Given the description of an element on the screen output the (x, y) to click on. 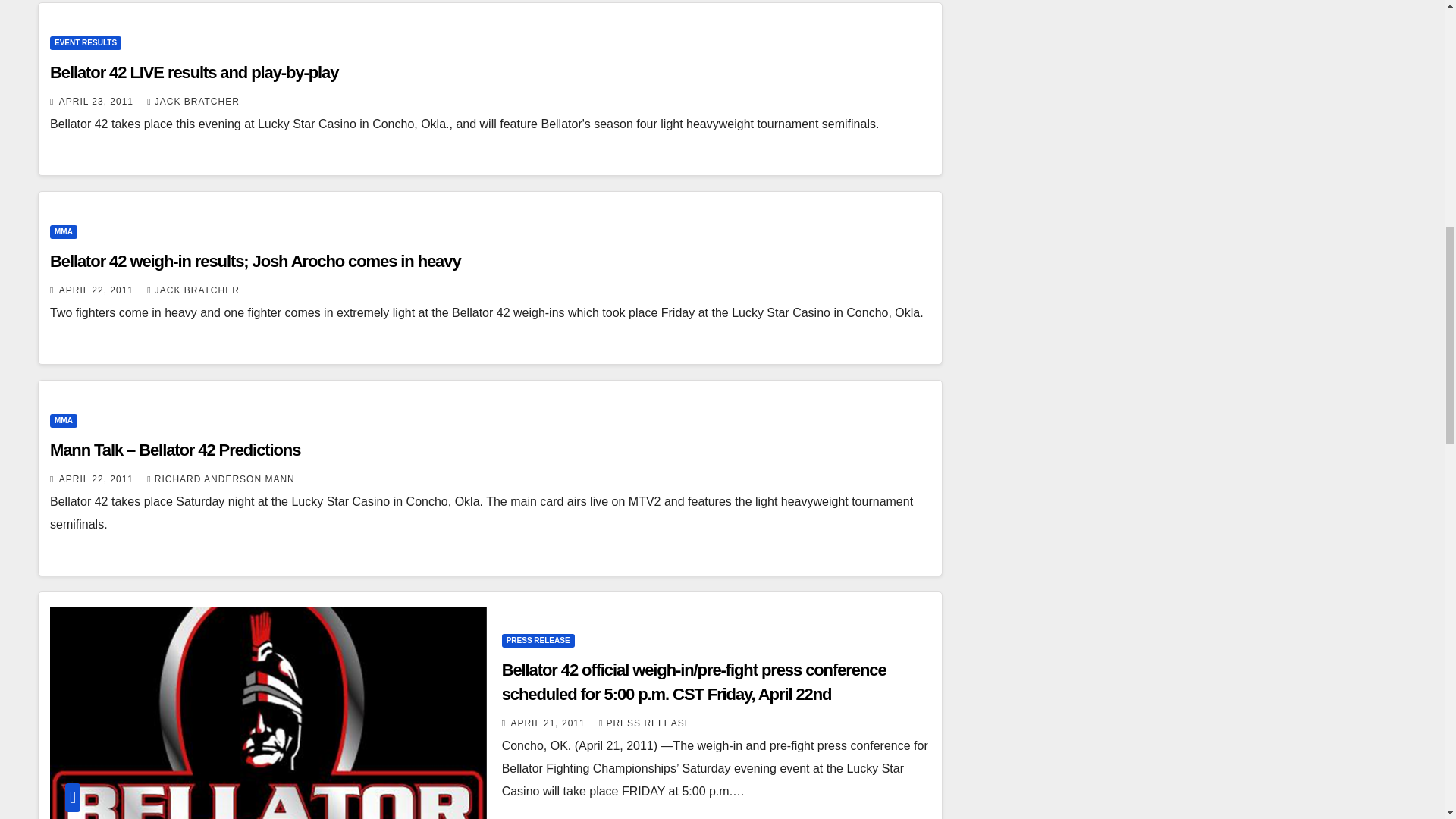
JACK BRATCHER (193, 101)
APRIL 22, 2011 (97, 479)
Bellator 42 weigh-in results; Josh Arocho comes in heavy (255, 261)
APRIL 23, 2011 (97, 101)
APRIL 22, 2011 (97, 290)
JACK BRATCHER (193, 290)
MMA (63, 232)
EVENT RESULTS (84, 42)
Bellator 42 LIVE results and play-by-play (193, 72)
MMA (63, 420)
